Given the description of an element on the screen output the (x, y) to click on. 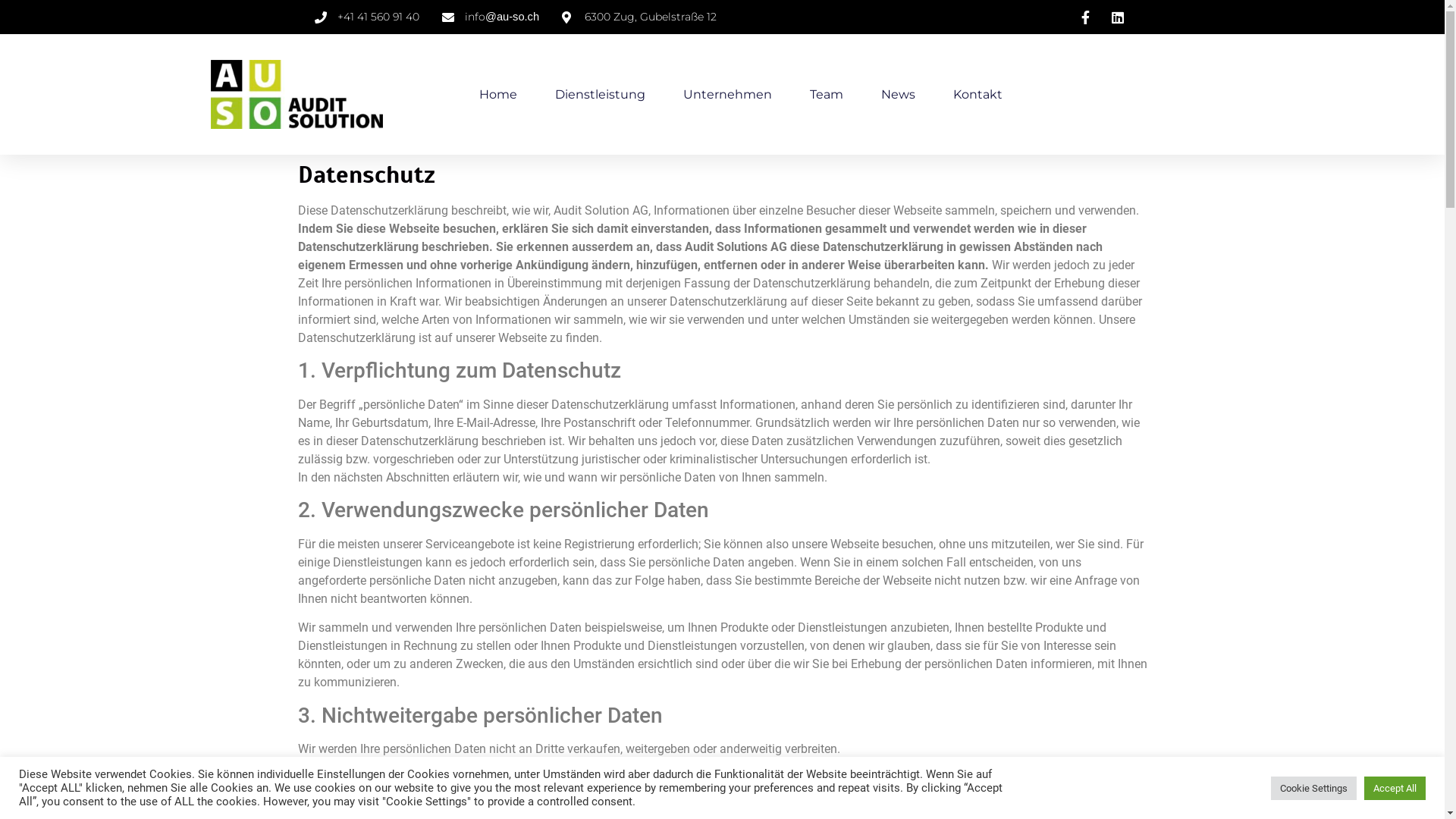
Kontakt Element type: text (976, 94)
Dienstleistung Element type: text (600, 94)
Team Element type: text (826, 94)
Unternehmen Element type: text (726, 94)
Accept All Element type: text (1394, 788)
Cookie Settings Element type: text (1313, 788)
Home Element type: text (498, 94)
News Element type: text (898, 94)
